Given the description of an element on the screen output the (x, y) to click on. 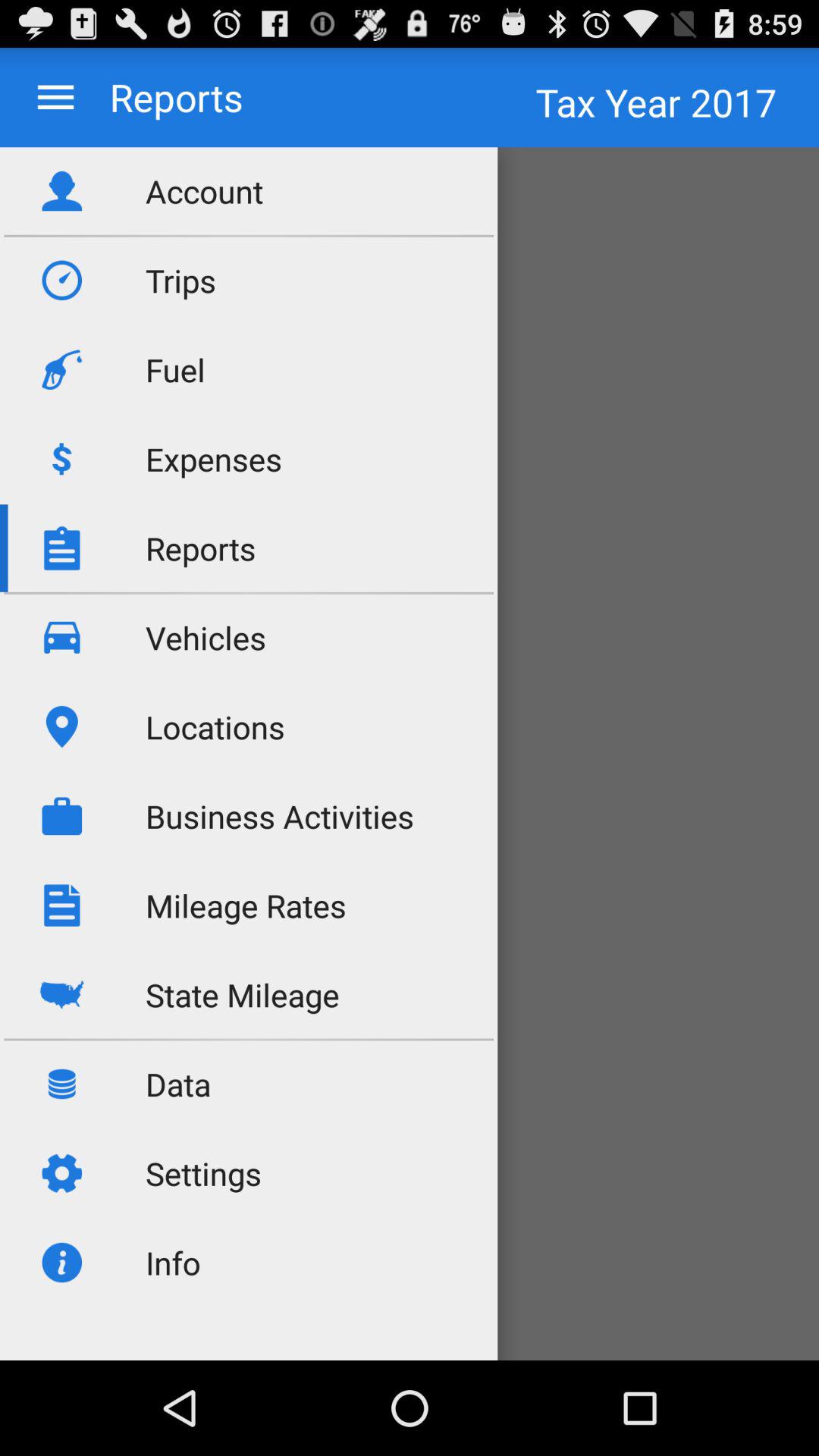
open the locations (214, 726)
